Given the description of an element on the screen output the (x, y) to click on. 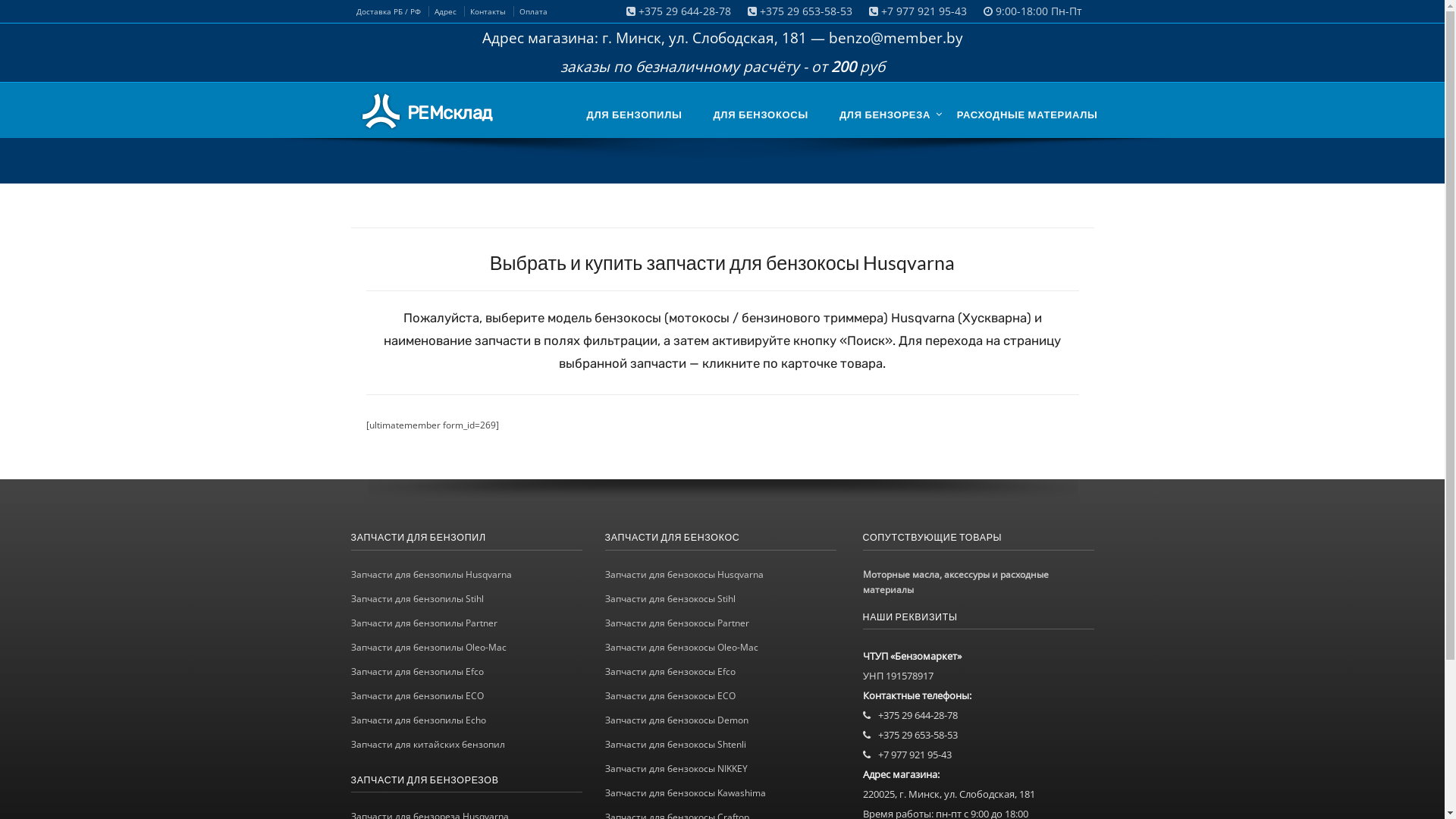
A1 Element type: hover (868, 735)
A1 Element type: hover (868, 715)
